Given the description of an element on the screen output the (x, y) to click on. 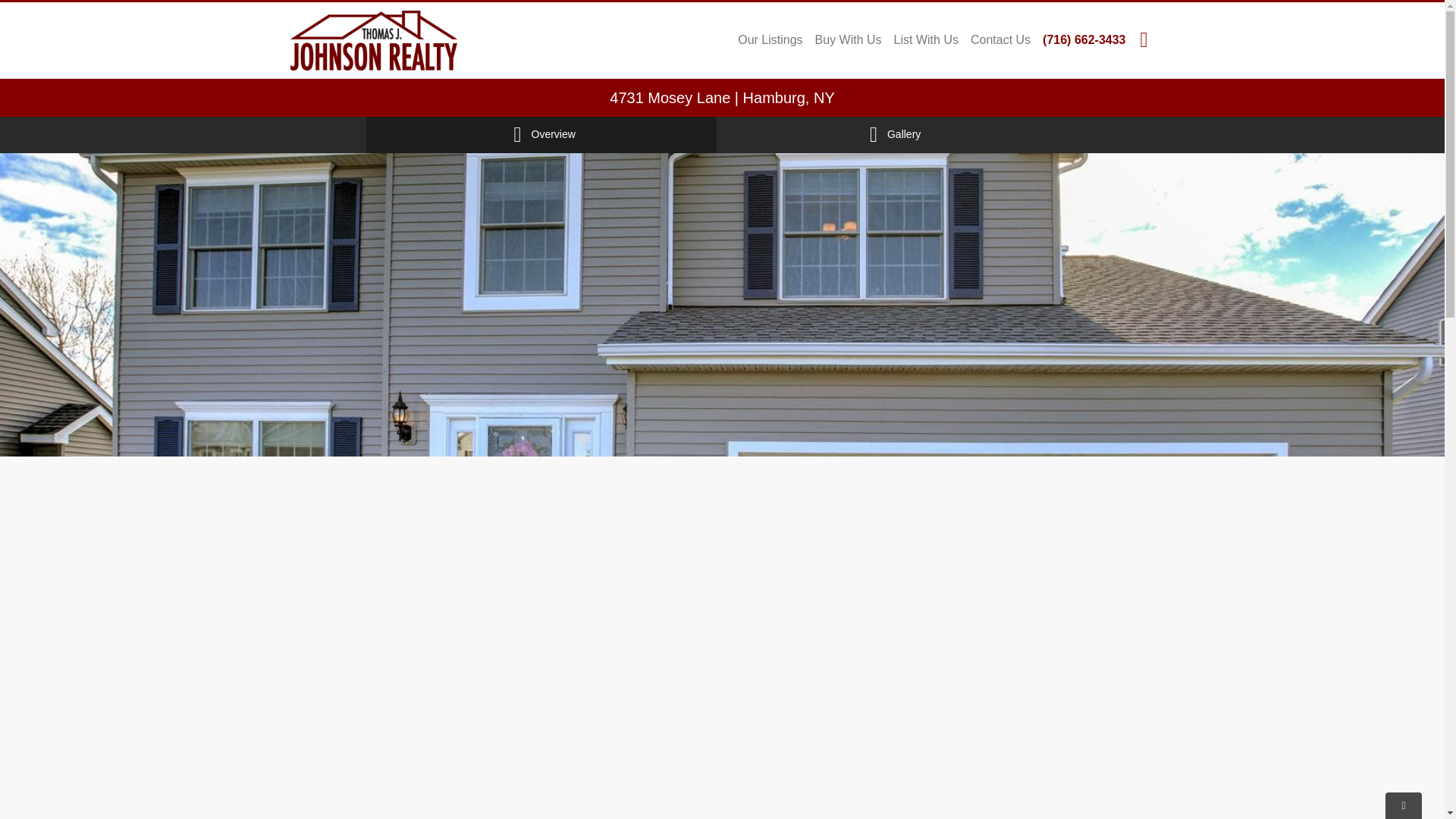
Our Listings (770, 39)
List With Us (925, 39)
Buy With Us (848, 39)
Contact Us (999, 39)
List With Us (925, 39)
Buy With Us (848, 39)
Contact Us (999, 39)
Our Listings (770, 39)
